Given the description of an element on the screen output the (x, y) to click on. 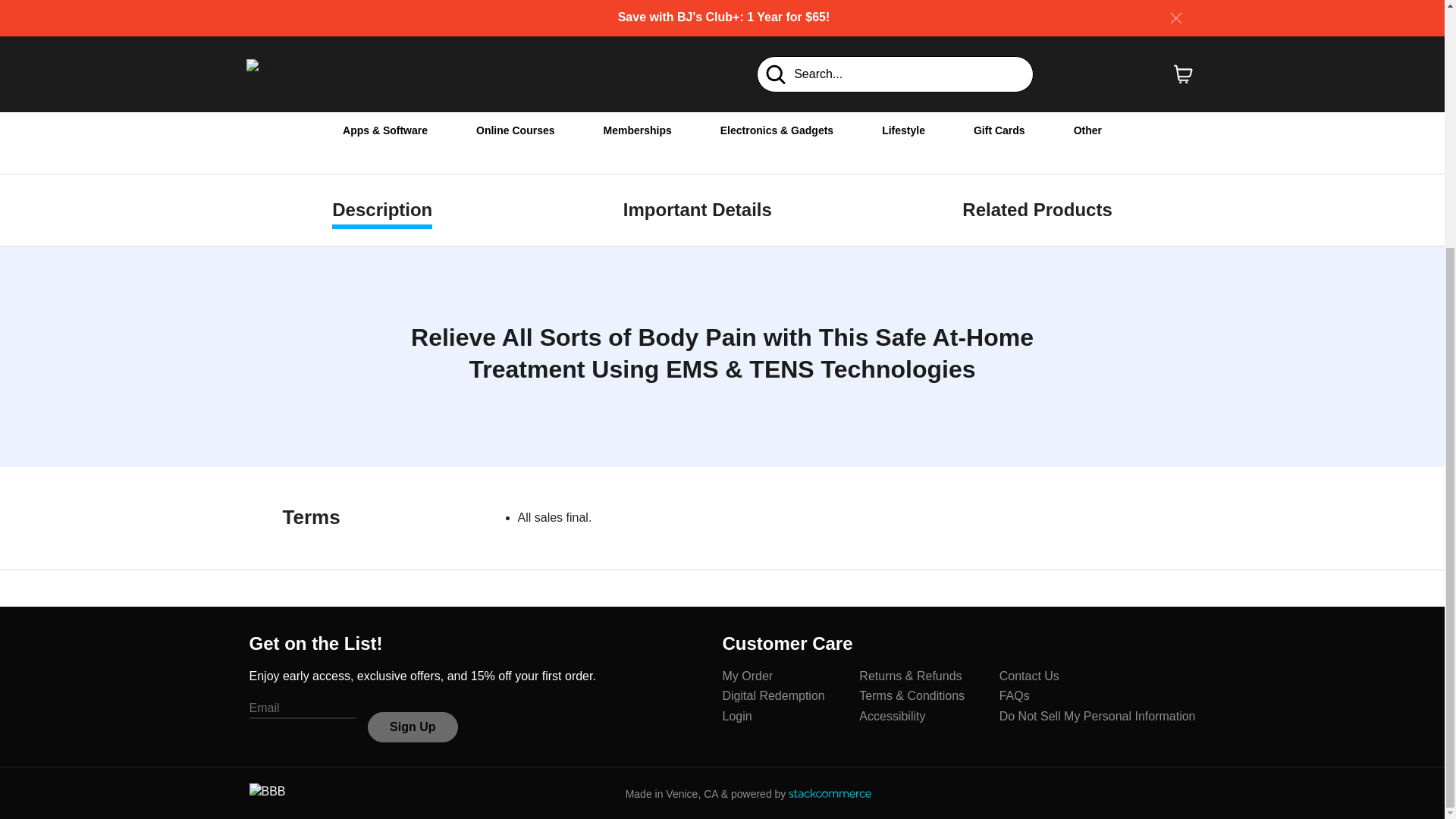
StackCommerce (829, 793)
